Given the description of an element on the screen output the (x, y) to click on. 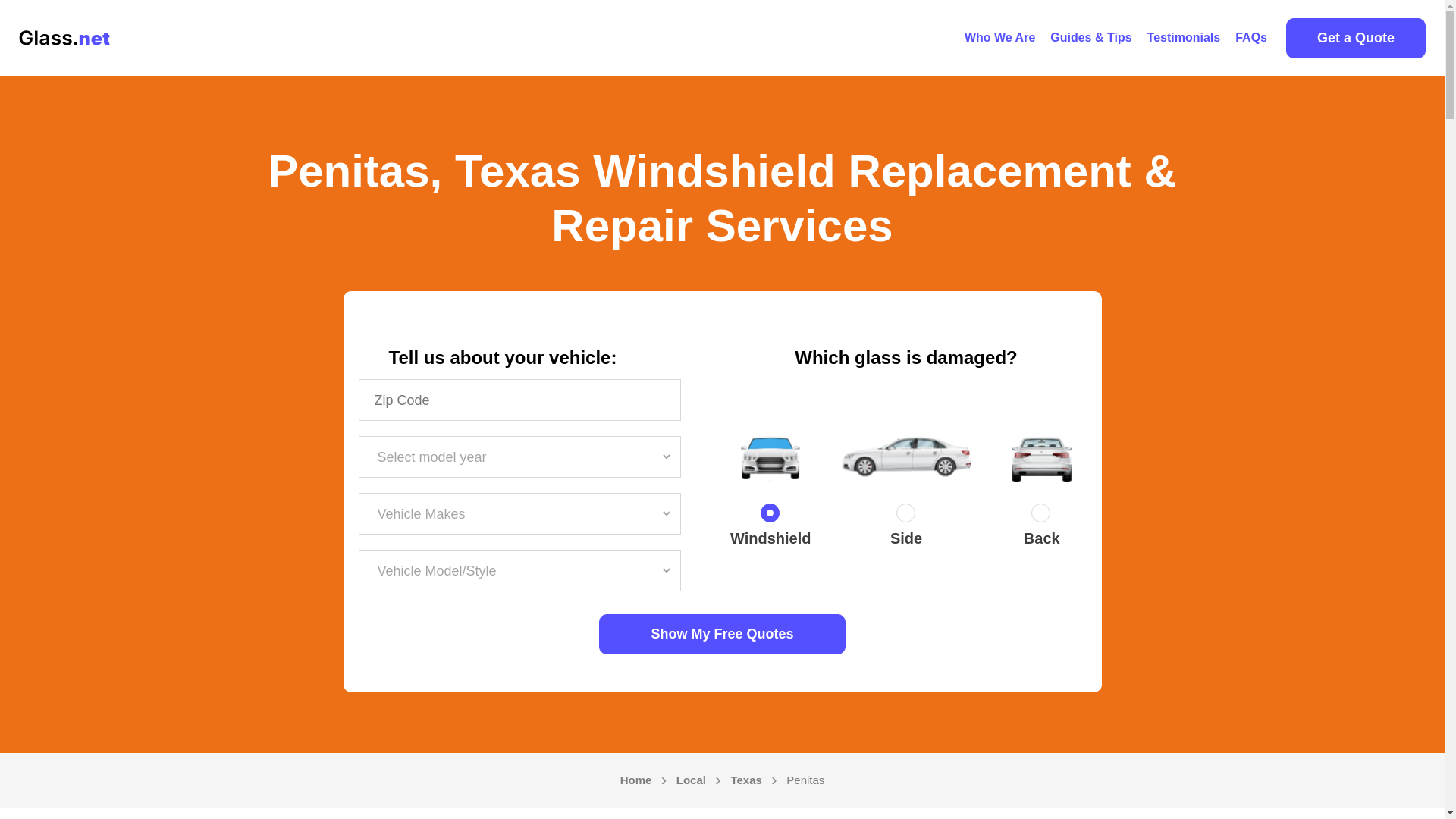
Testimonials (1184, 37)
Home (636, 780)
Testimonials (1184, 37)
side (905, 516)
Get a Quote (1355, 38)
Show My Free Quotes (721, 634)
Who We Are (999, 37)
back (1041, 516)
Penitas (805, 780)
front (770, 516)
